Given the description of an element on the screen output the (x, y) to click on. 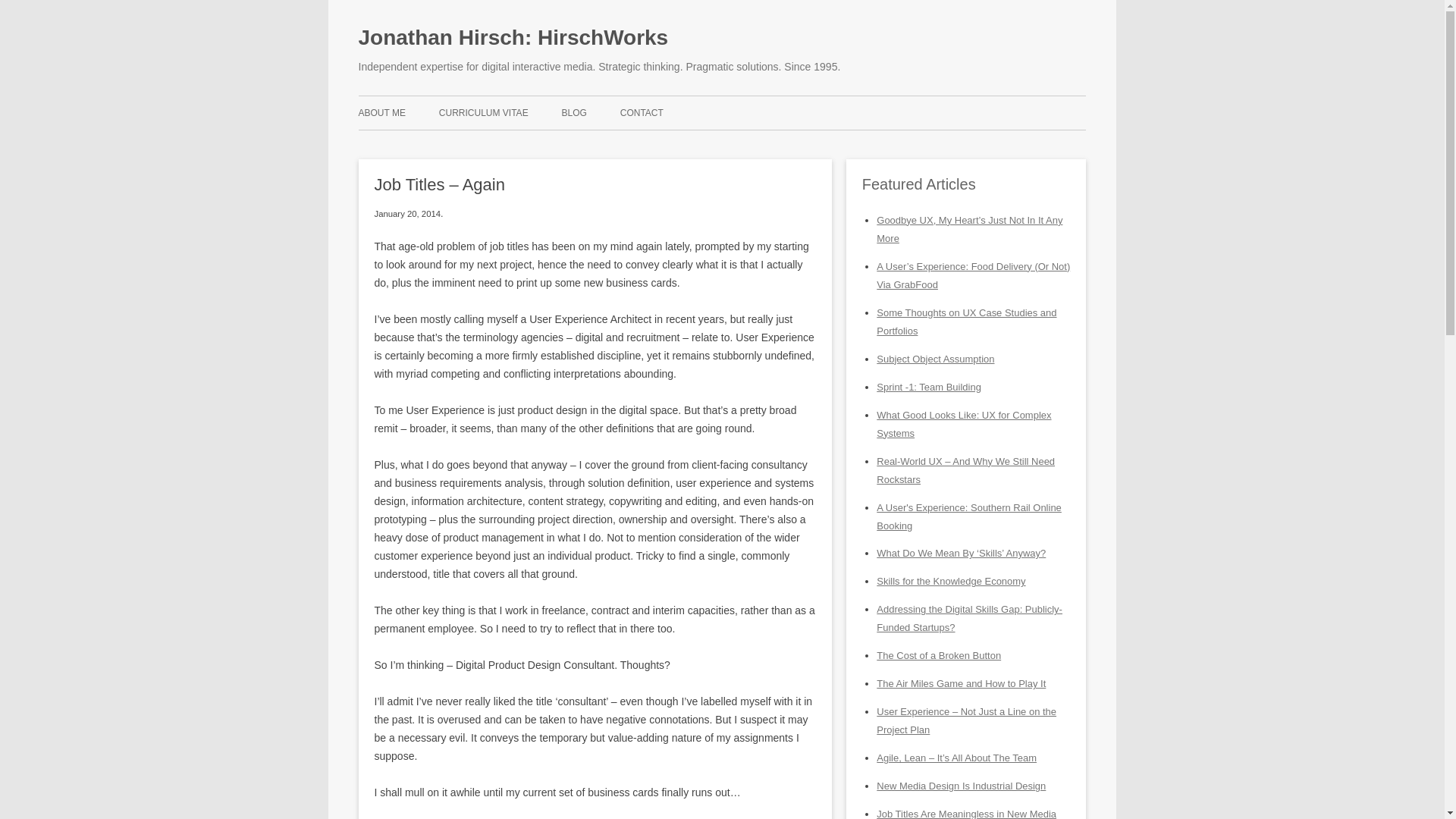
Jonathan Hirsch: HirschWorks (513, 37)
Skills for the Knowledge Economy (950, 581)
Addressing the Digital Skills Gap: Publicly-Funded Startups? (969, 618)
Job Titles Are Meaningless in New Media (966, 813)
A User's Experience: Southern Rail Online Booking (968, 516)
Sprint -1: Team Building (928, 387)
CONTACT (641, 112)
Some Thoughts on UX Case Studies and Portfolios (966, 321)
The Cost of a Broken Button (938, 655)
Some Thoughts on UX Case Studies and Portfolios (966, 321)
